Given the description of an element on the screen output the (x, y) to click on. 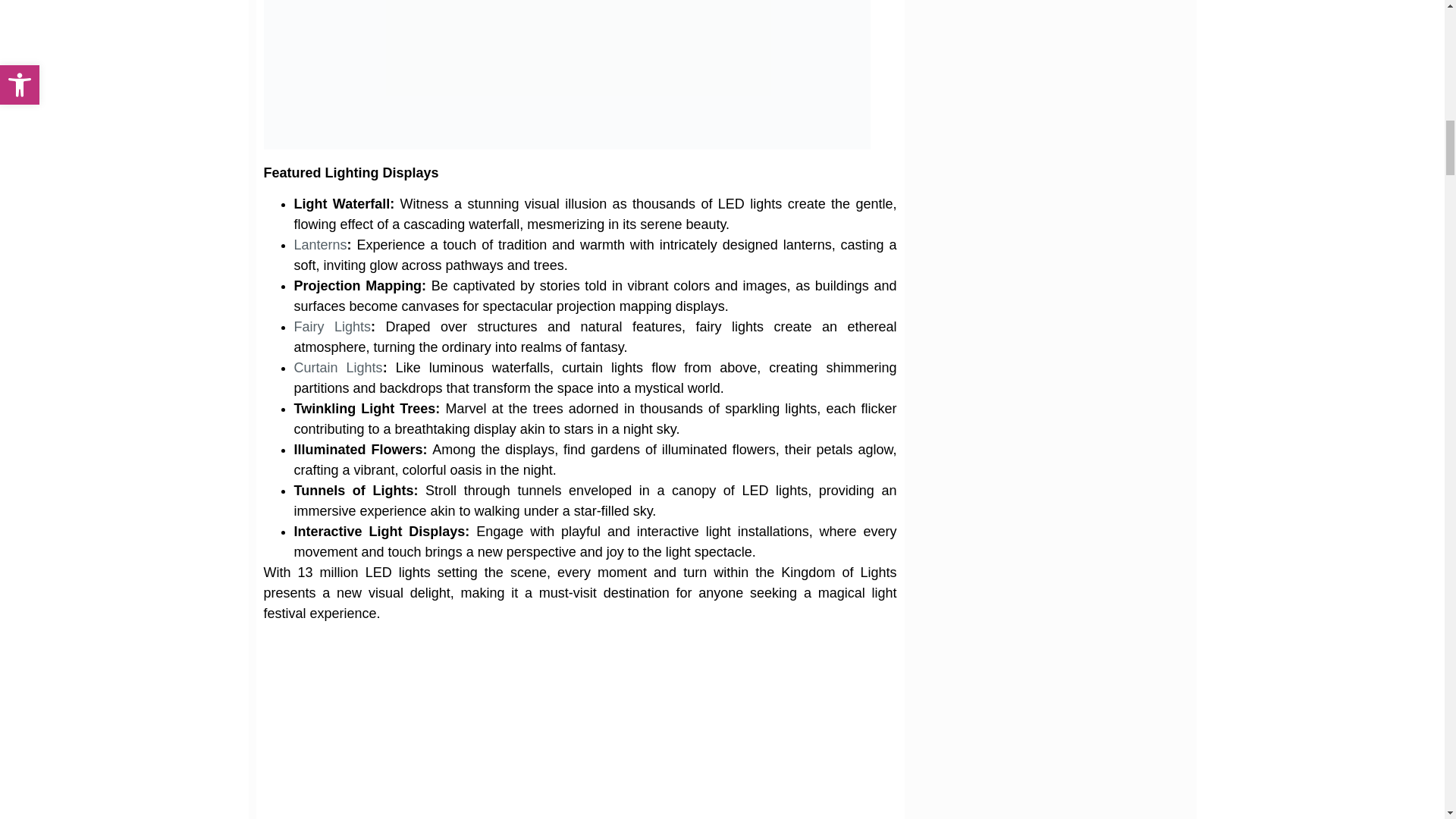
Fairy Lights (332, 326)
Kingdom Of Lights in Japan (579, 727)
Curtain Lights (338, 367)
Lanterns (320, 244)
